Given the description of an element on the screen output the (x, y) to click on. 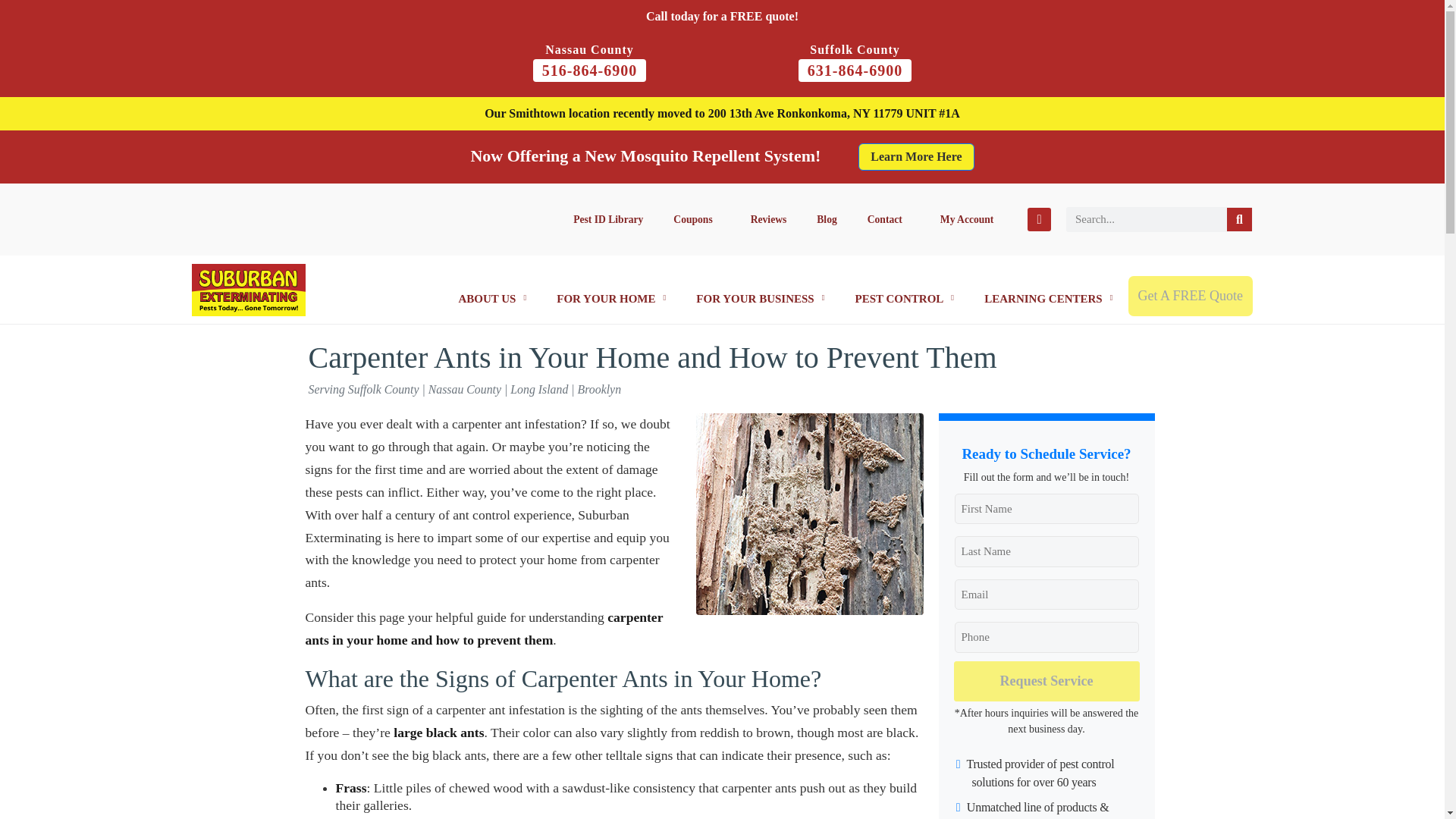
Request Service (1046, 680)
FOR YOUR BUSINESS (760, 297)
Pest ID Library (607, 218)
631-864-6900 (854, 69)
Contact (887, 218)
FOR YOUR HOME (611, 297)
Blog (826, 218)
Coupons (696, 218)
516-864-6900 (589, 69)
Learn More Here (916, 156)
Reviews (768, 218)
ABOUT US (491, 297)
My Account (966, 218)
